Given the description of an element on the screen output the (x, y) to click on. 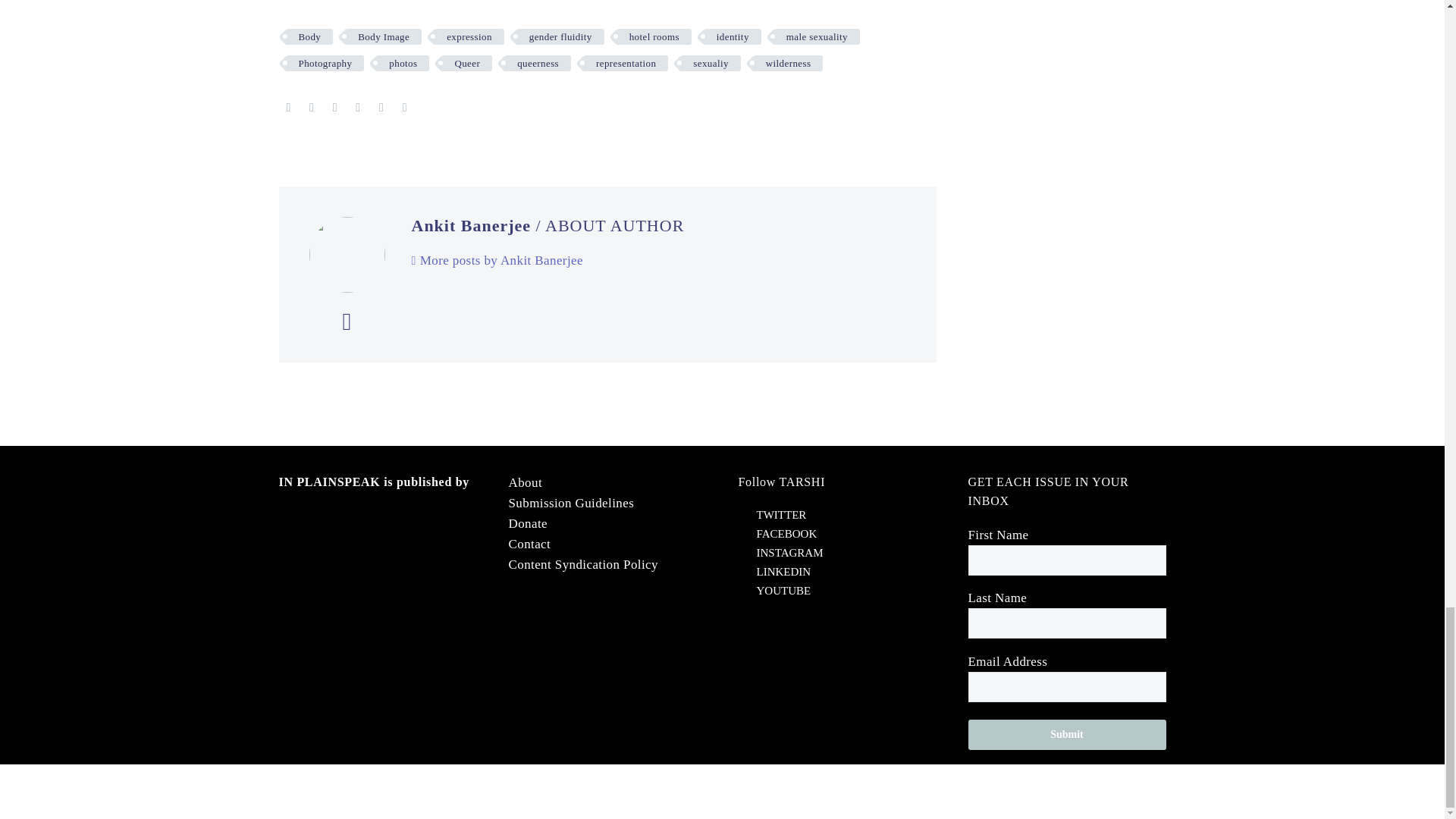
LinkedIn (381, 107)
Tumblr (358, 107)
Pinterest (334, 107)
Body (309, 36)
Facebook (288, 107)
Twitter (311, 107)
Reddit (404, 107)
Body Image (384, 36)
